Given the description of an element on the screen output the (x, y) to click on. 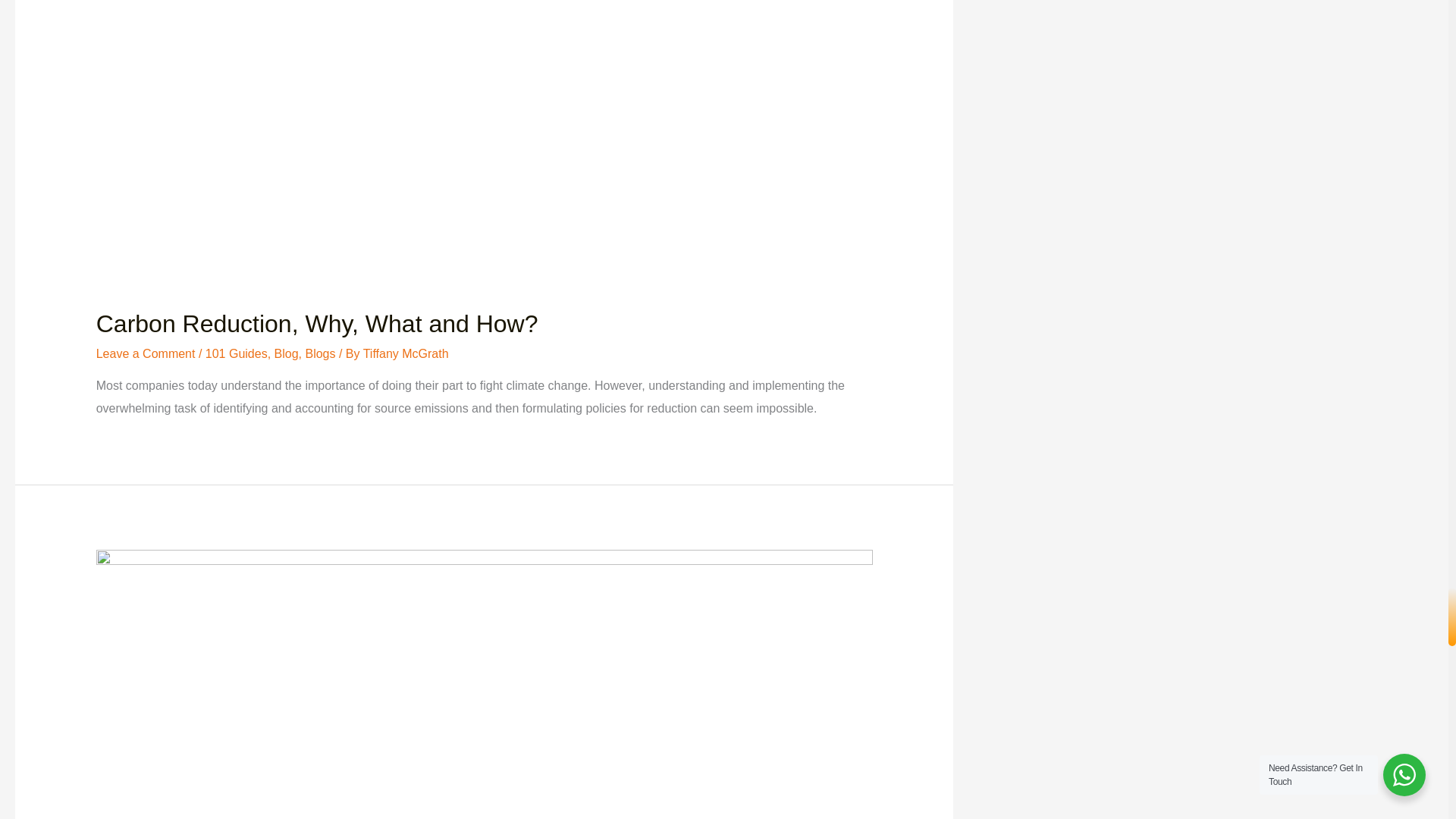
View all posts by Tiffany McGrath (405, 353)
